Given the description of an element on the screen output the (x, y) to click on. 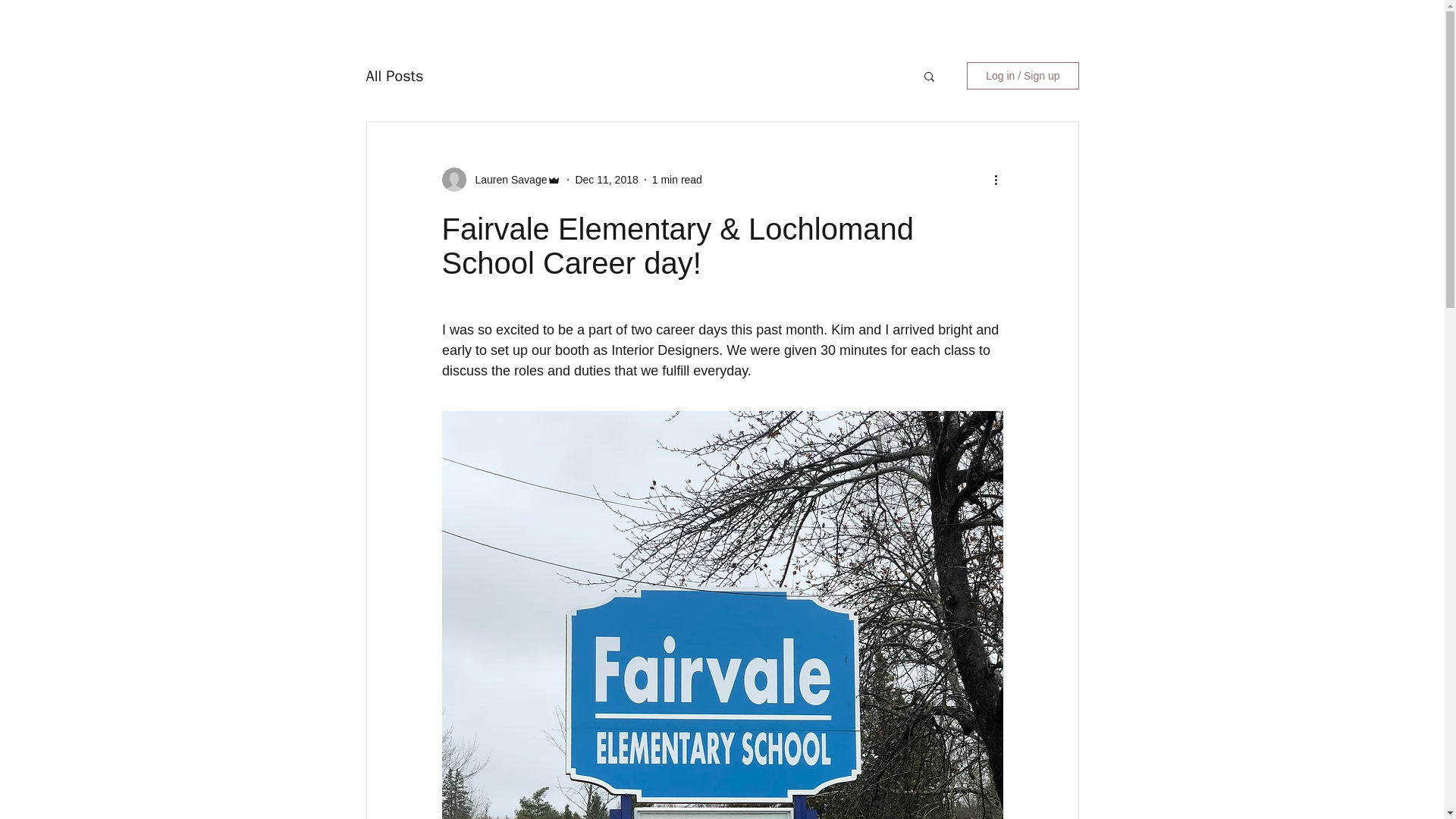
All Posts (394, 75)
Dec 11, 2018 (606, 178)
Lauren Savage (506, 179)
1 min read (676, 178)
